Given the description of an element on the screen output the (x, y) to click on. 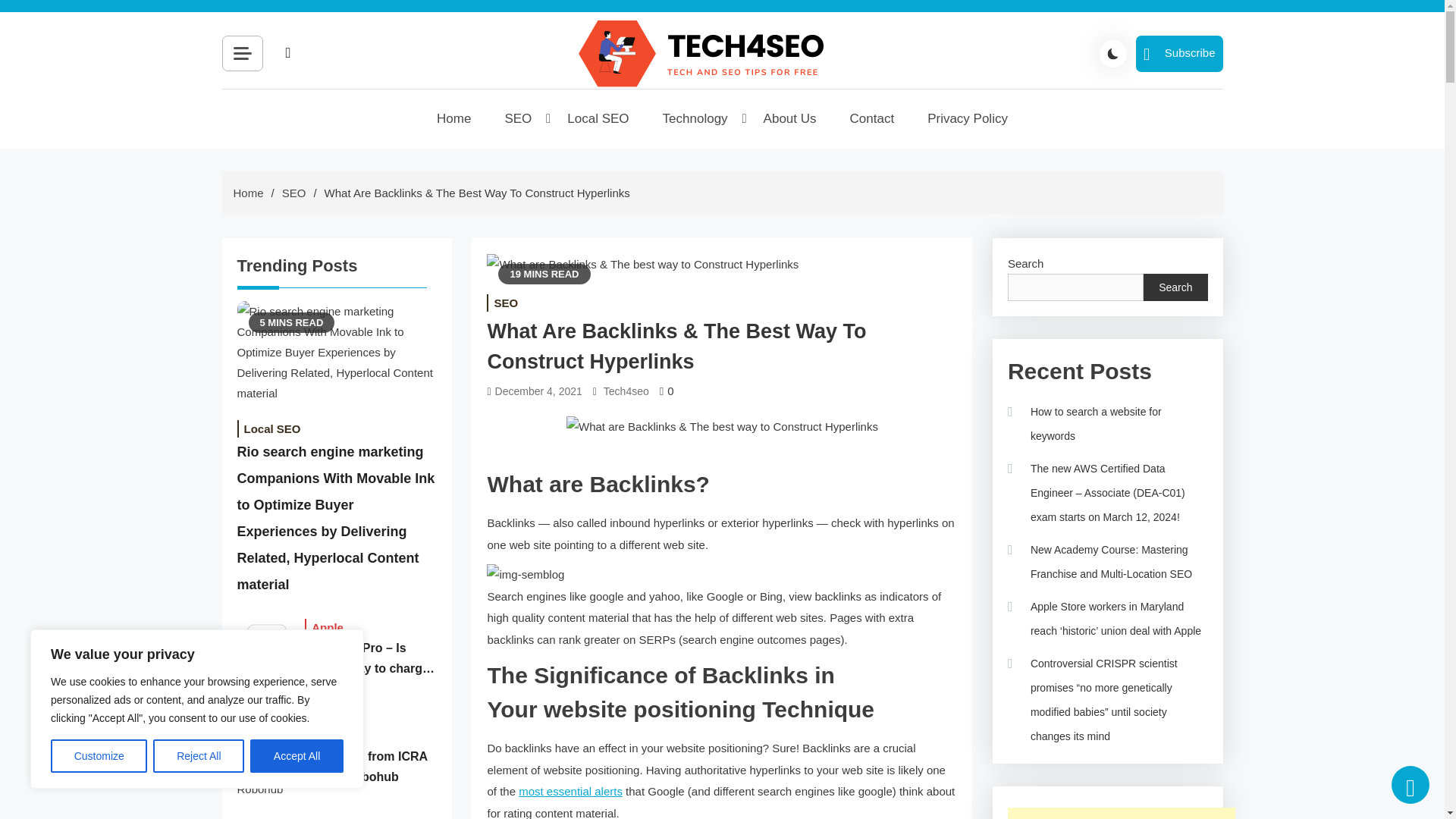
Reject All (198, 756)
Accept All (296, 756)
Customize (98, 756)
